Given the description of an element on the screen output the (x, y) to click on. 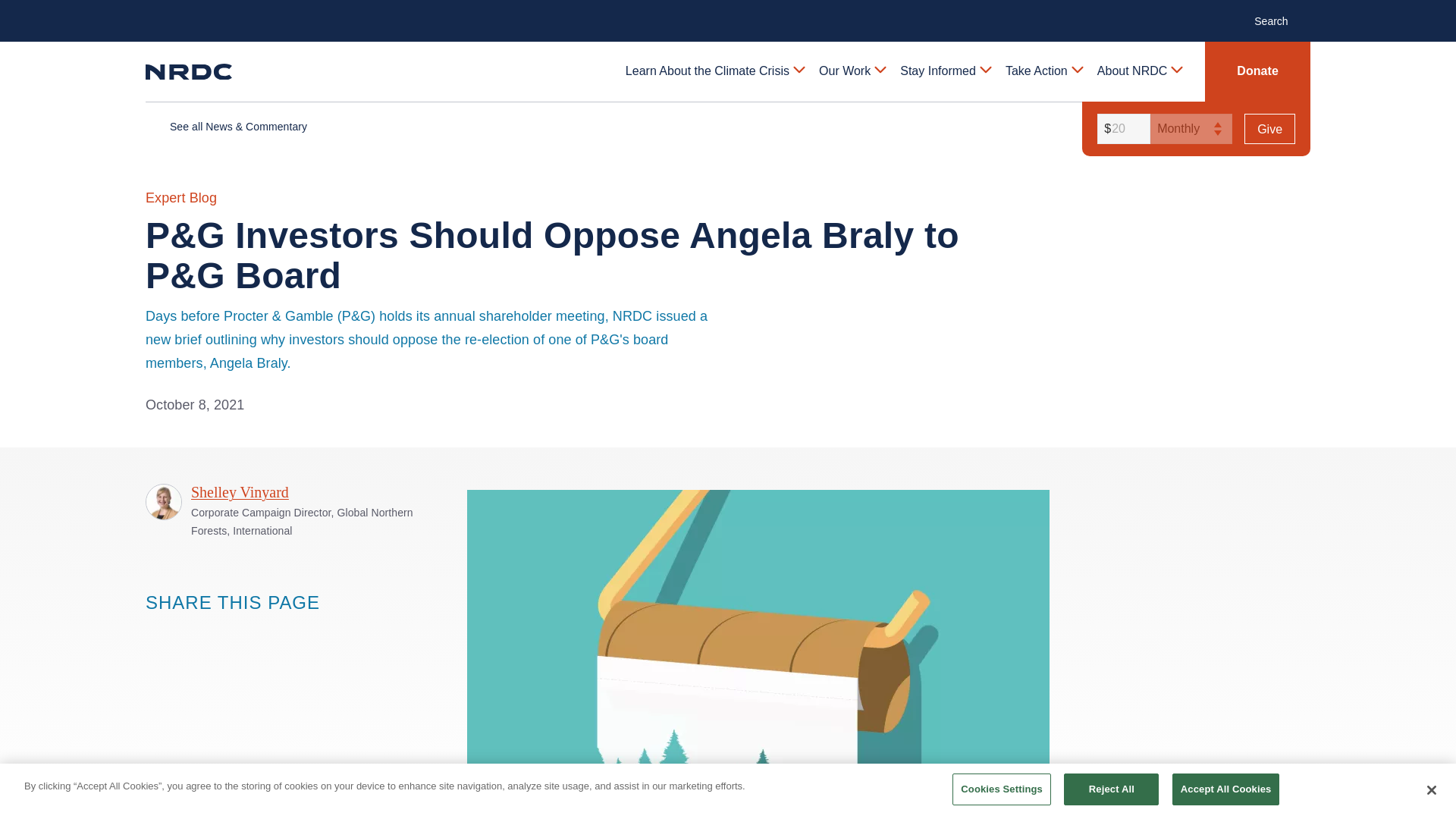
Share this page block (186, 631)
Share this page block (216, 631)
Skip to main content (727, 12)
Share this page block (156, 631)
Stay Informed (944, 71)
20 (1120, 128)
Learn About the Climate Crisis (714, 71)
Our Work (850, 71)
Search (1278, 19)
